Given the description of an element on the screen output the (x, y) to click on. 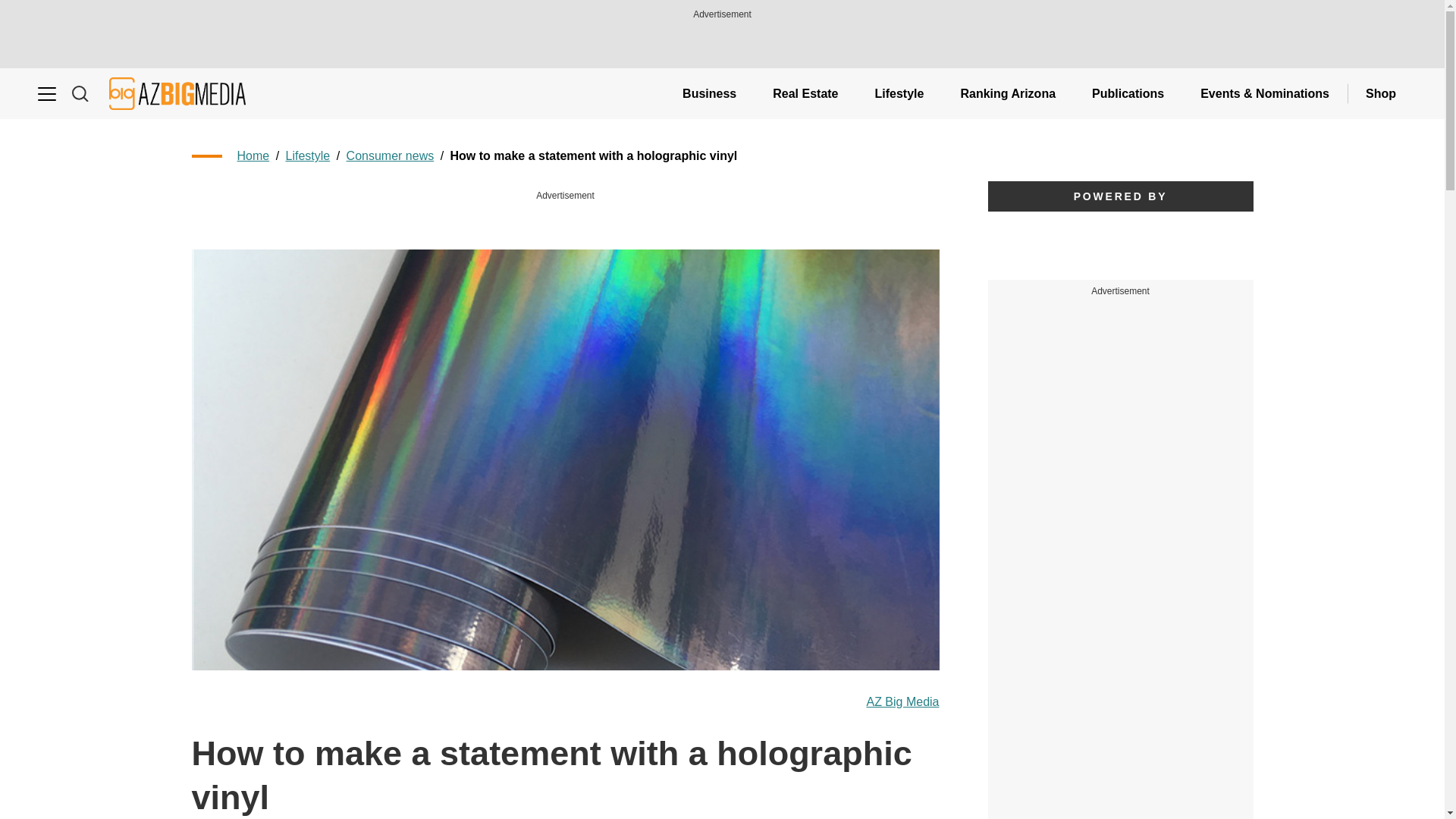
Posts by AZ Big Media (902, 702)
Business (708, 92)
AZ Big Media Logo (177, 92)
